Given the description of an element on the screen output the (x, y) to click on. 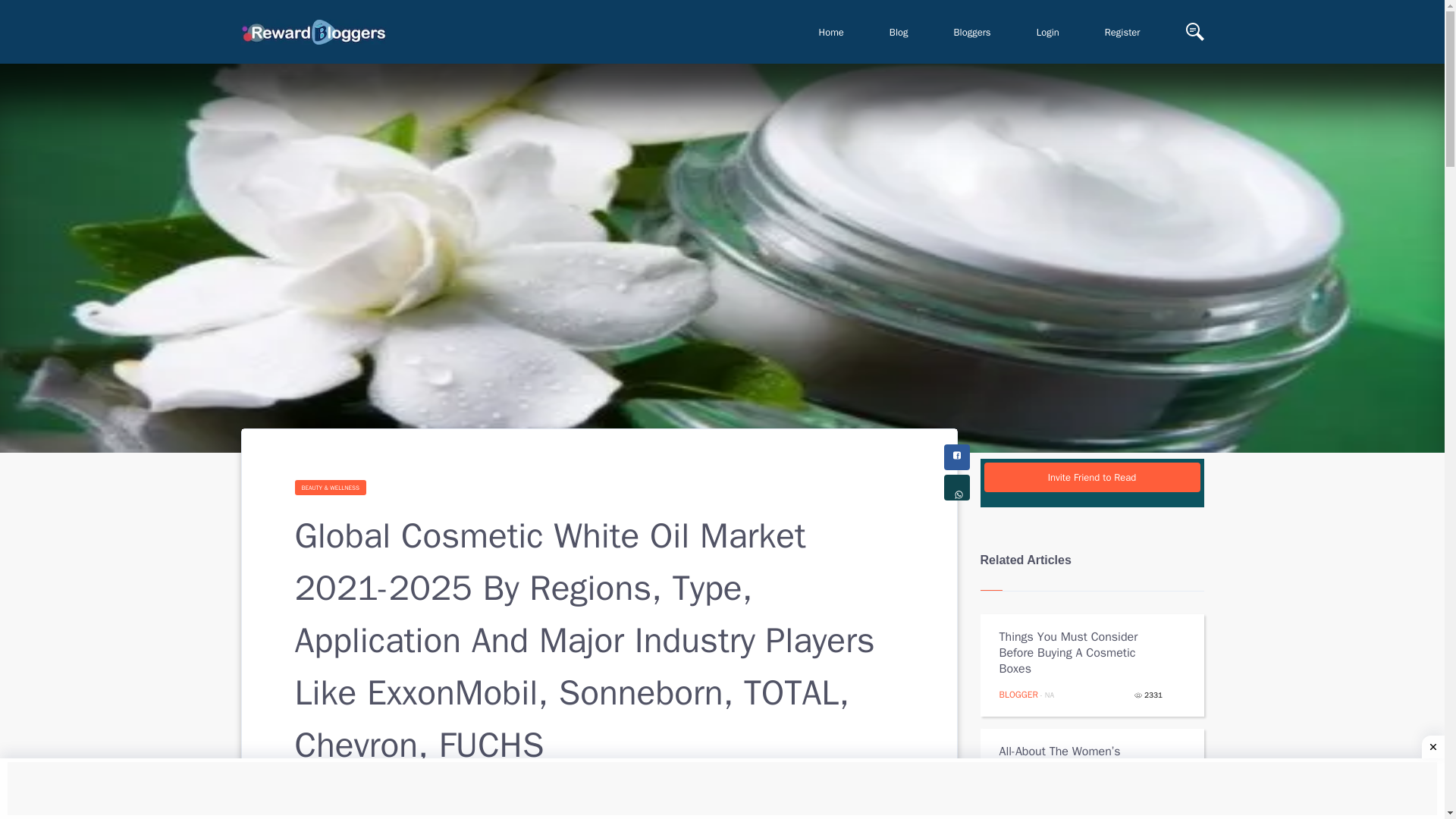
BLOGGER (1018, 808)
Things You Must Consider Before Buying A Cosmetic Boxes (1080, 652)
Register (1122, 31)
Advertisement (722, 790)
BLOGGER (1018, 694)
Bloggers (972, 31)
Blog (898, 31)
Invite Friend to Read (1091, 477)
SWATI KALAGATE (381, 812)
Login (1047, 31)
